Given the description of an element on the screen output the (x, y) to click on. 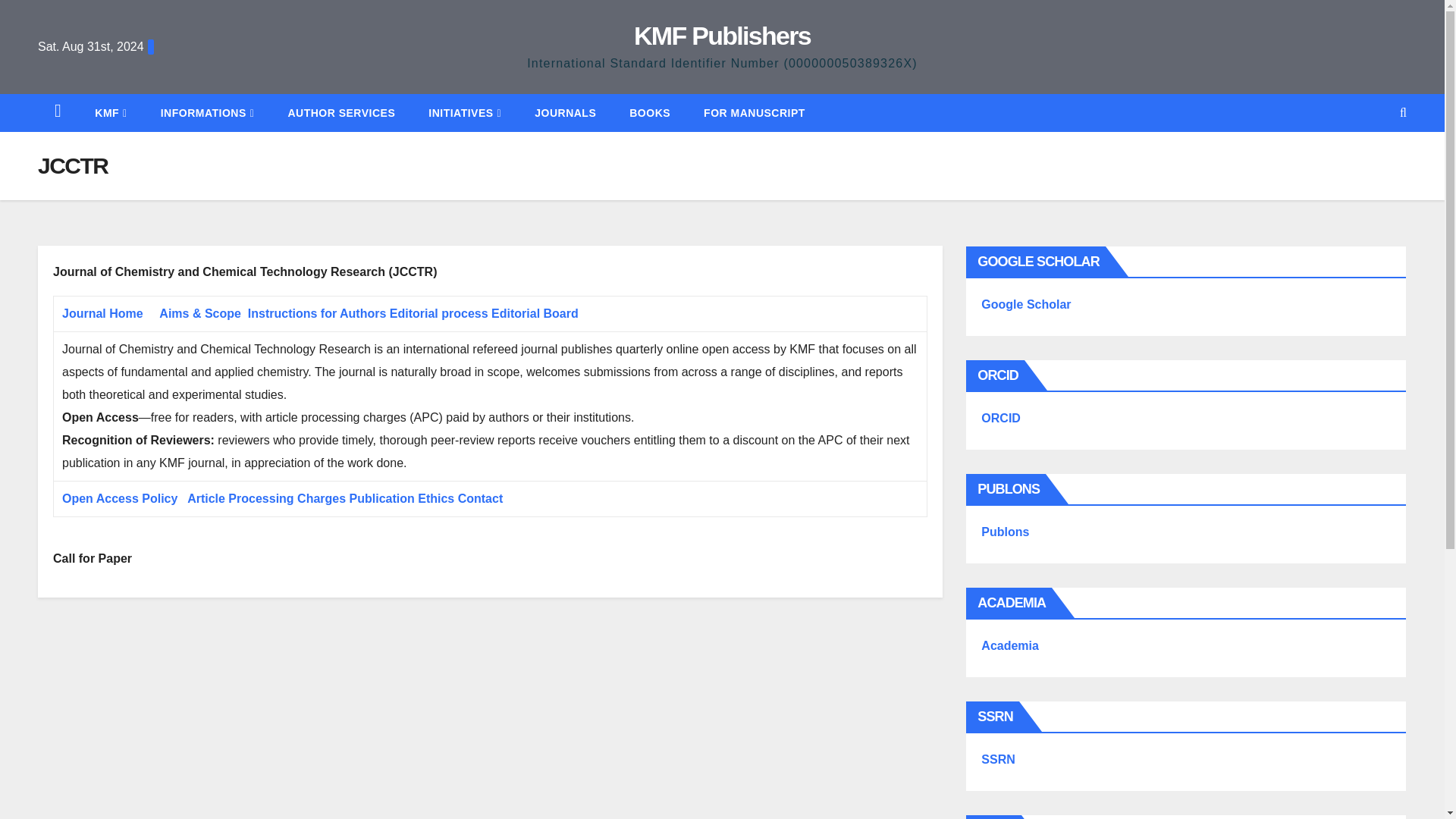
BOOKS (649, 112)
Instructions for Authors (317, 313)
INITIATIVES (465, 112)
INFORMATIONS (207, 112)
JOURNALS (565, 112)
KMF Publishers (721, 35)
KMF (110, 112)
AUTHOR SERVICES (341, 112)
FOR MANUSCRIPT (754, 112)
Journal Home (102, 313)
